Given the description of an element on the screen output the (x, y) to click on. 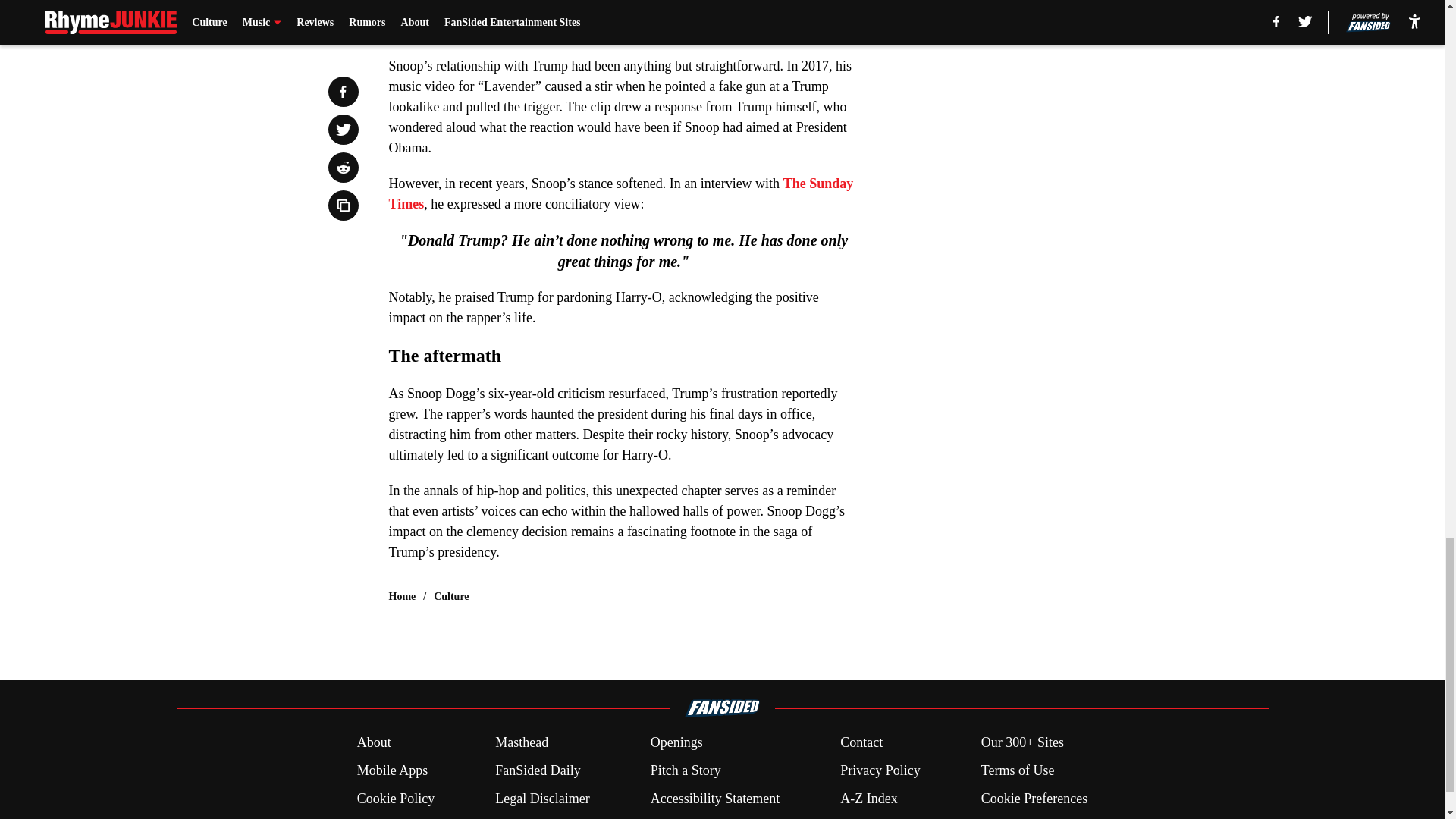
Pitch a Story (685, 770)
Mobile Apps (392, 770)
Terms of Use (1017, 770)
Openings (676, 742)
Cookie Policy (395, 798)
Accessibility Statement (714, 798)
The Sunday Times (620, 193)
Legal Disclaimer (542, 798)
About (373, 742)
Contact (861, 742)
Masthead (521, 742)
Home (401, 596)
FanSided Daily (537, 770)
Privacy Policy (880, 770)
Culture (450, 596)
